Given the description of an element on the screen output the (x, y) to click on. 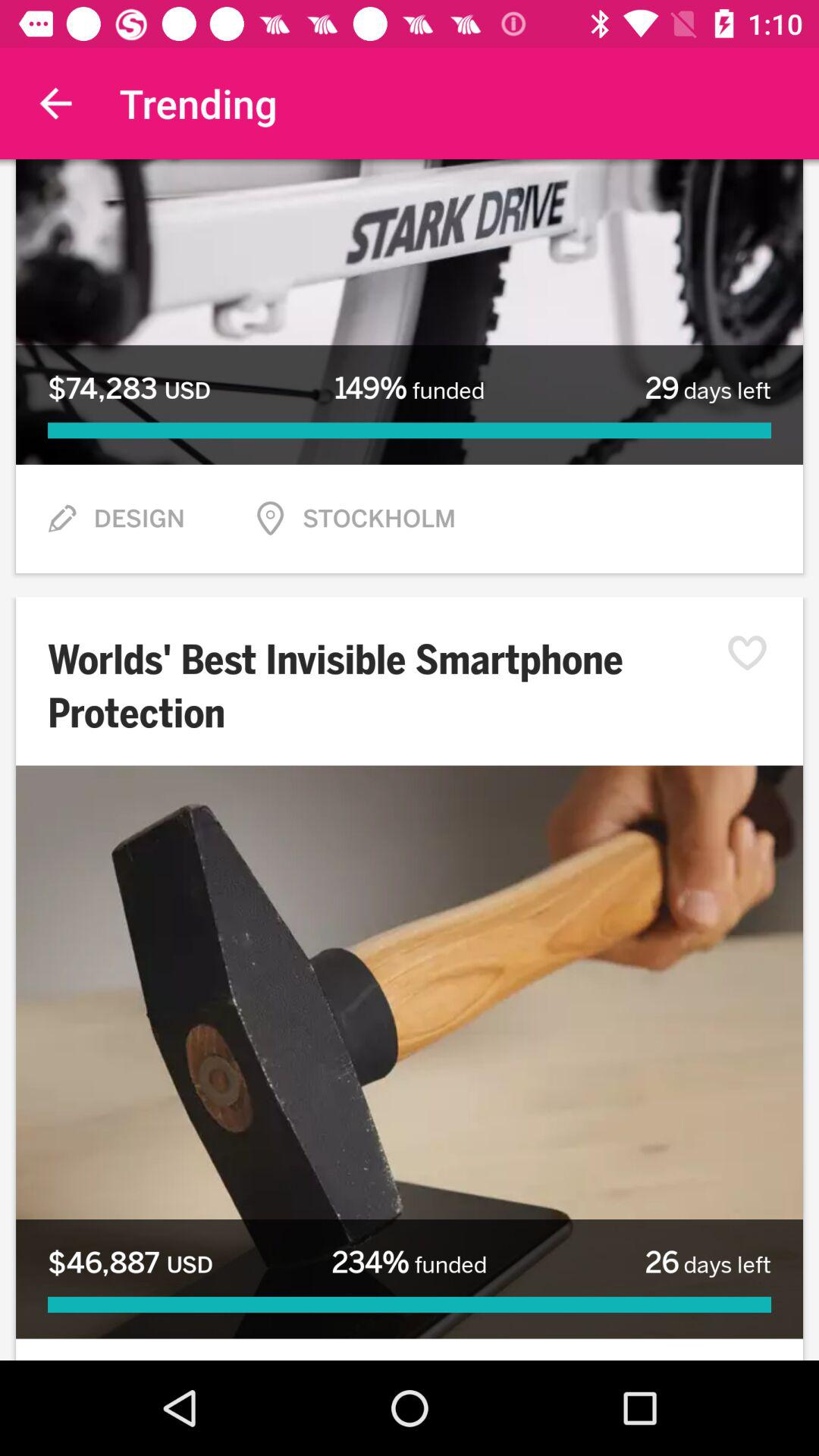
choose the item above the worlds best invisible (61, 518)
